Given the description of an element on the screen output the (x, y) to click on. 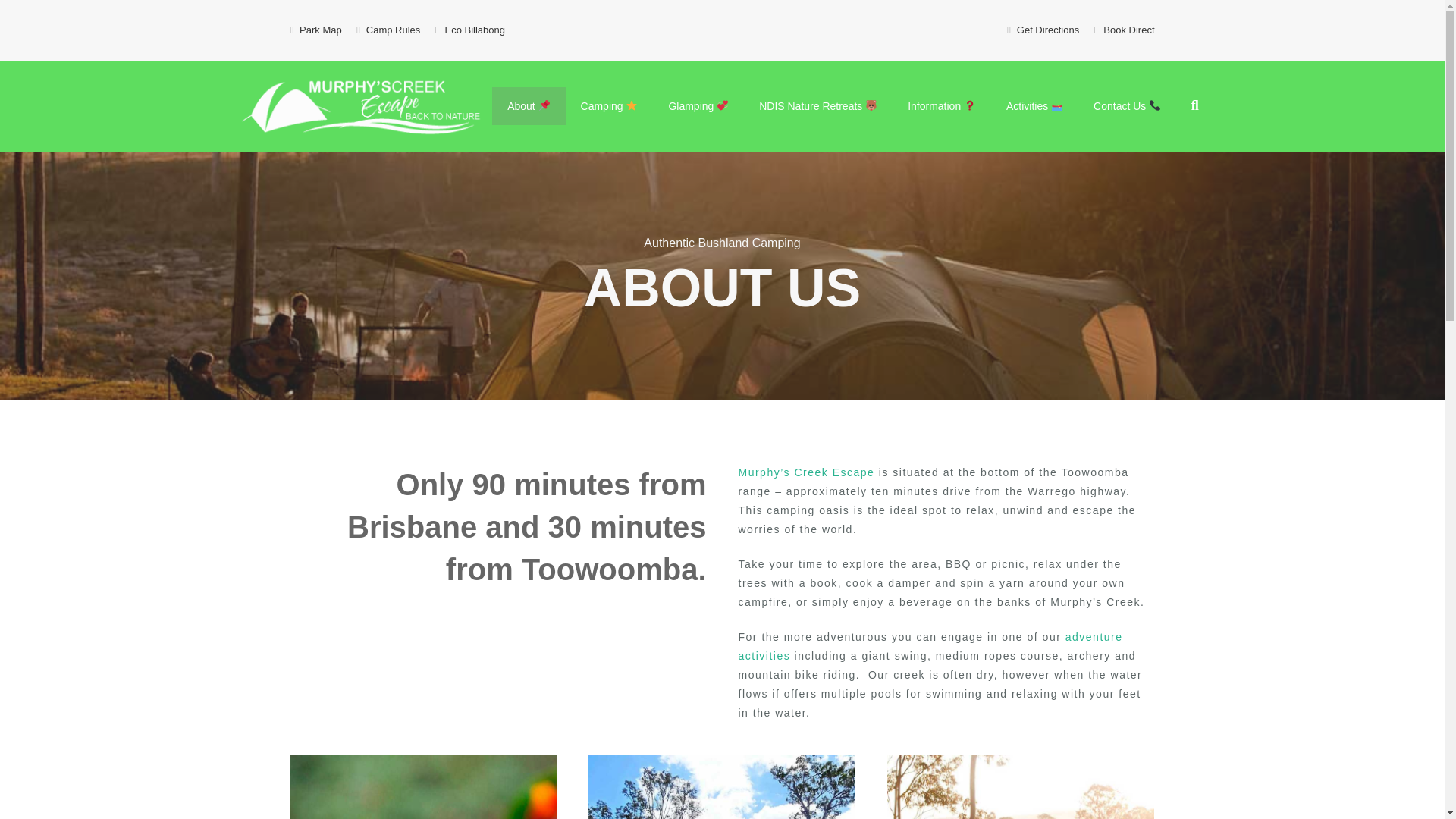
Eco Billabong (474, 30)
Glamping (698, 105)
Get Directions (1047, 30)
Camp Rules (393, 30)
Book Direct (1128, 30)
About (528, 105)
Park Map (320, 30)
Information (941, 105)
Camping (609, 105)
NDIS Nature Retreats (818, 105)
